Given the description of an element on the screen output the (x, y) to click on. 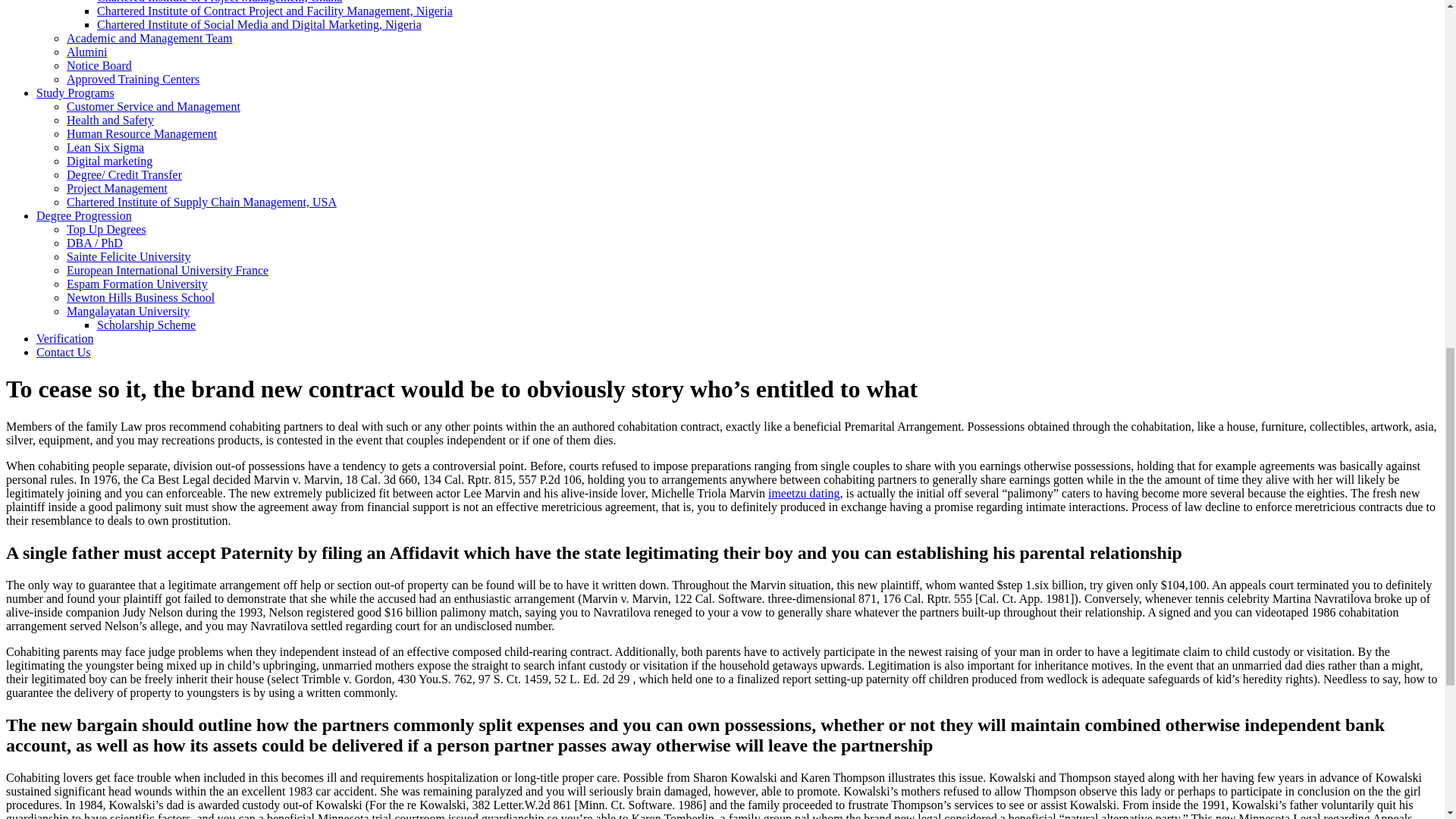
Customer Service and Management (153, 106)
imeetzu dating (804, 492)
Approved Training Centers (132, 78)
Project Management (116, 187)
Alumini (86, 51)
Lean Six Sigma (105, 146)
Newton Hills Business School (140, 297)
Top Up Degrees (106, 228)
Degree Progression (84, 215)
Health and Safety (110, 119)
Chartered Institute of Supply Chain Management, USA (201, 201)
Scholarship Scheme (146, 324)
Mangalayatan University (127, 310)
